Given the description of an element on the screen output the (x, y) to click on. 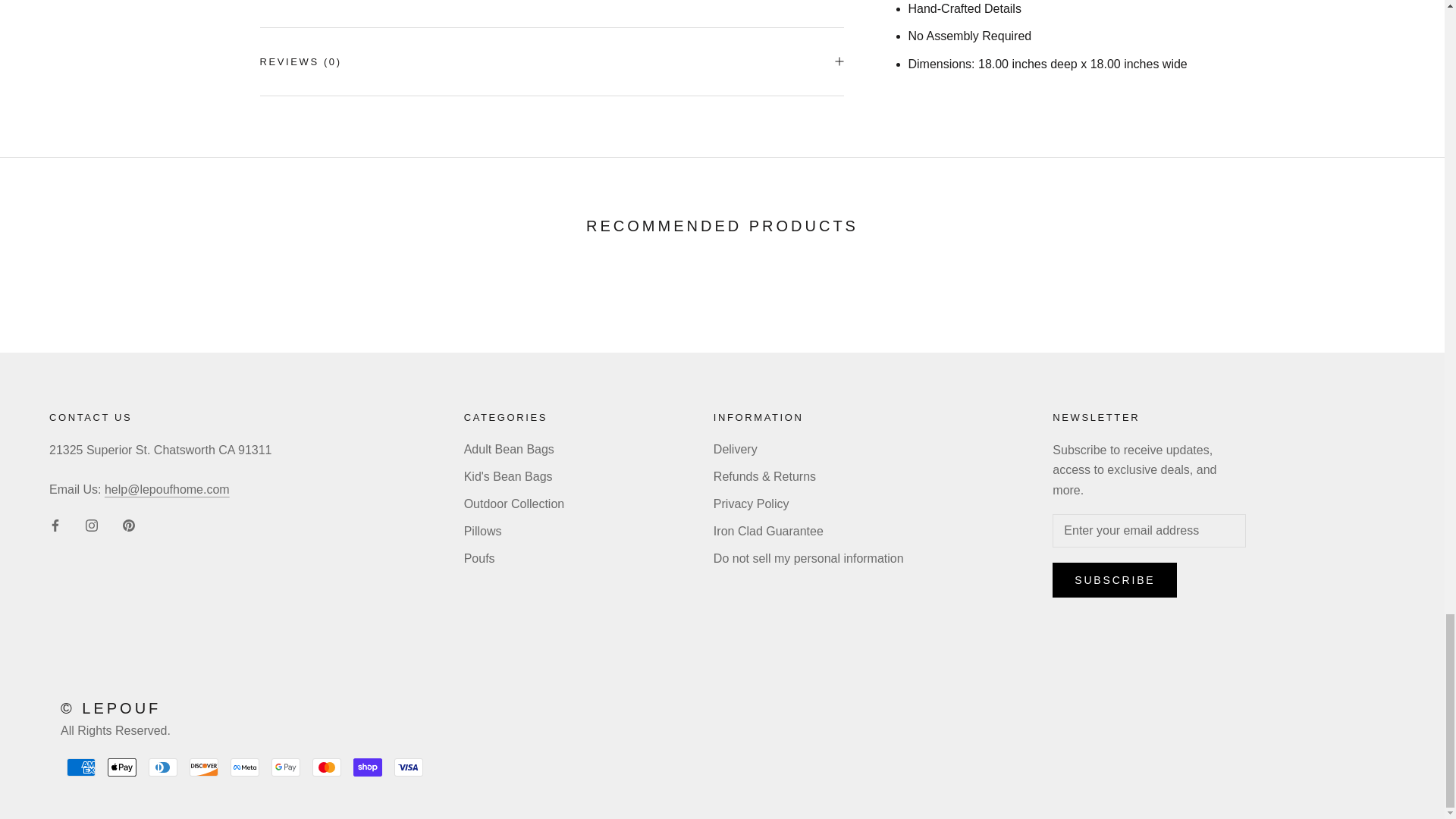
Google Pay (284, 767)
Visa (408, 767)
American Express (81, 767)
Diners Club (162, 767)
Shop Pay (367, 767)
Discover (203, 767)
Mastercard (326, 767)
Apple Pay (121, 767)
Meta Pay (244, 767)
